Given the description of an element on the screen output the (x, y) to click on. 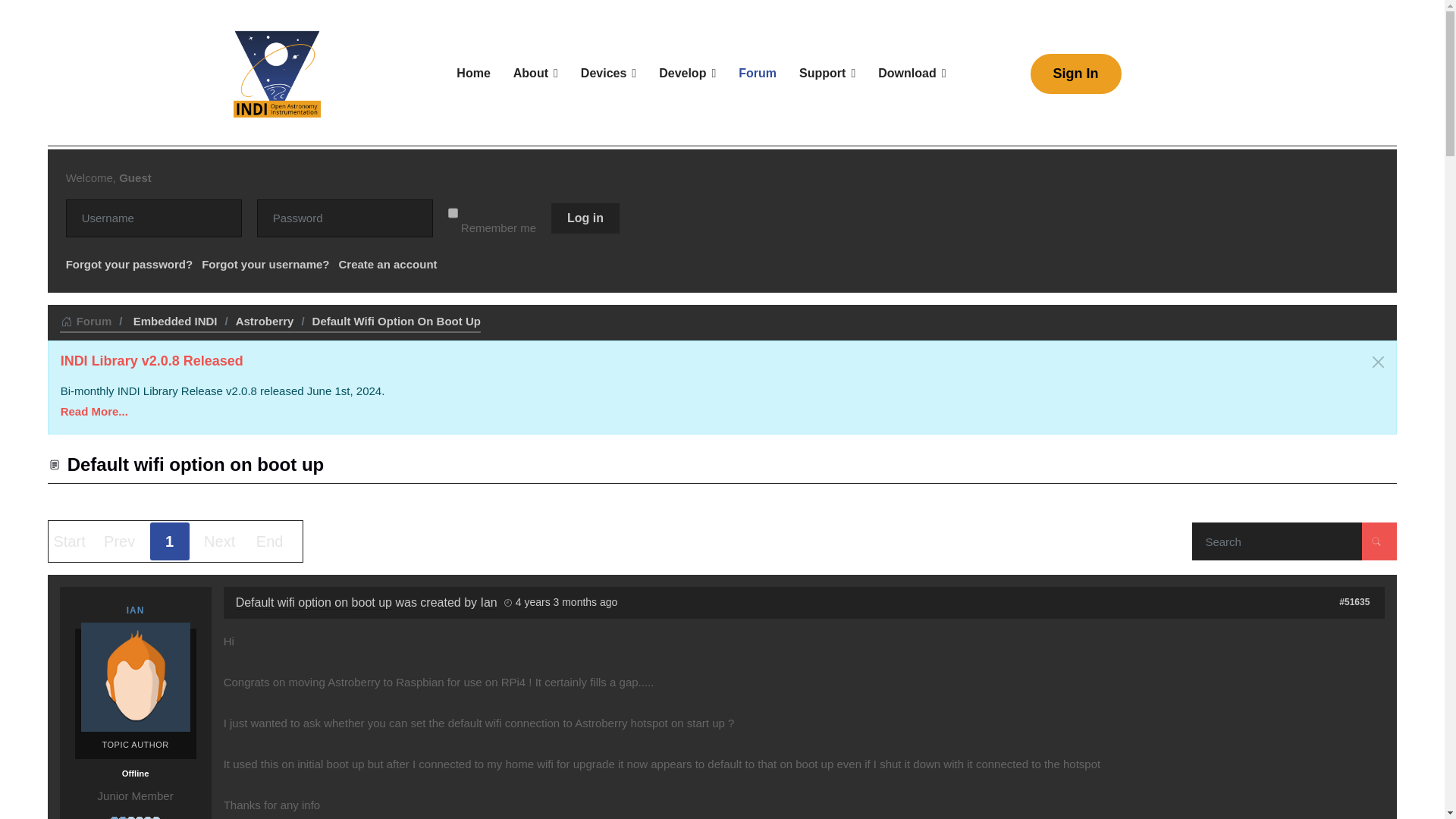
Develop (686, 73)
About (535, 73)
Home (472, 73)
Forum (756, 73)
Devices (608, 73)
1 (453, 212)
